Given the description of an element on the screen output the (x, y) to click on. 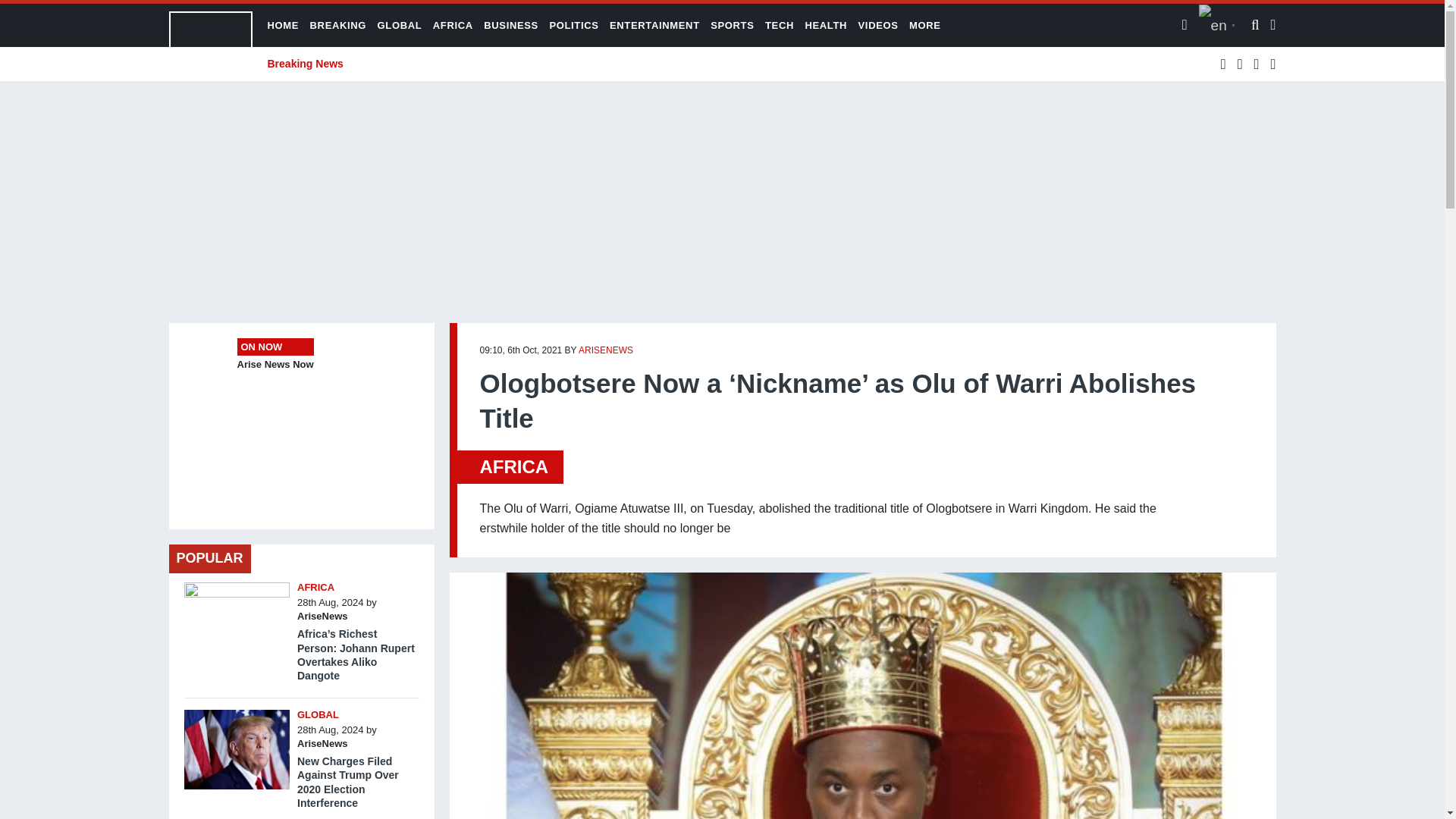
BREAKING (338, 25)
ARISENEWS (605, 349)
VIDEOS (878, 25)
HOME (282, 25)
ENTERTAINMENT (655, 25)
MORE (924, 25)
HEALTH (826, 25)
POLITICS (573, 25)
SPORTS (732, 25)
Arise News (209, 44)
